Given the description of an element on the screen output the (x, y) to click on. 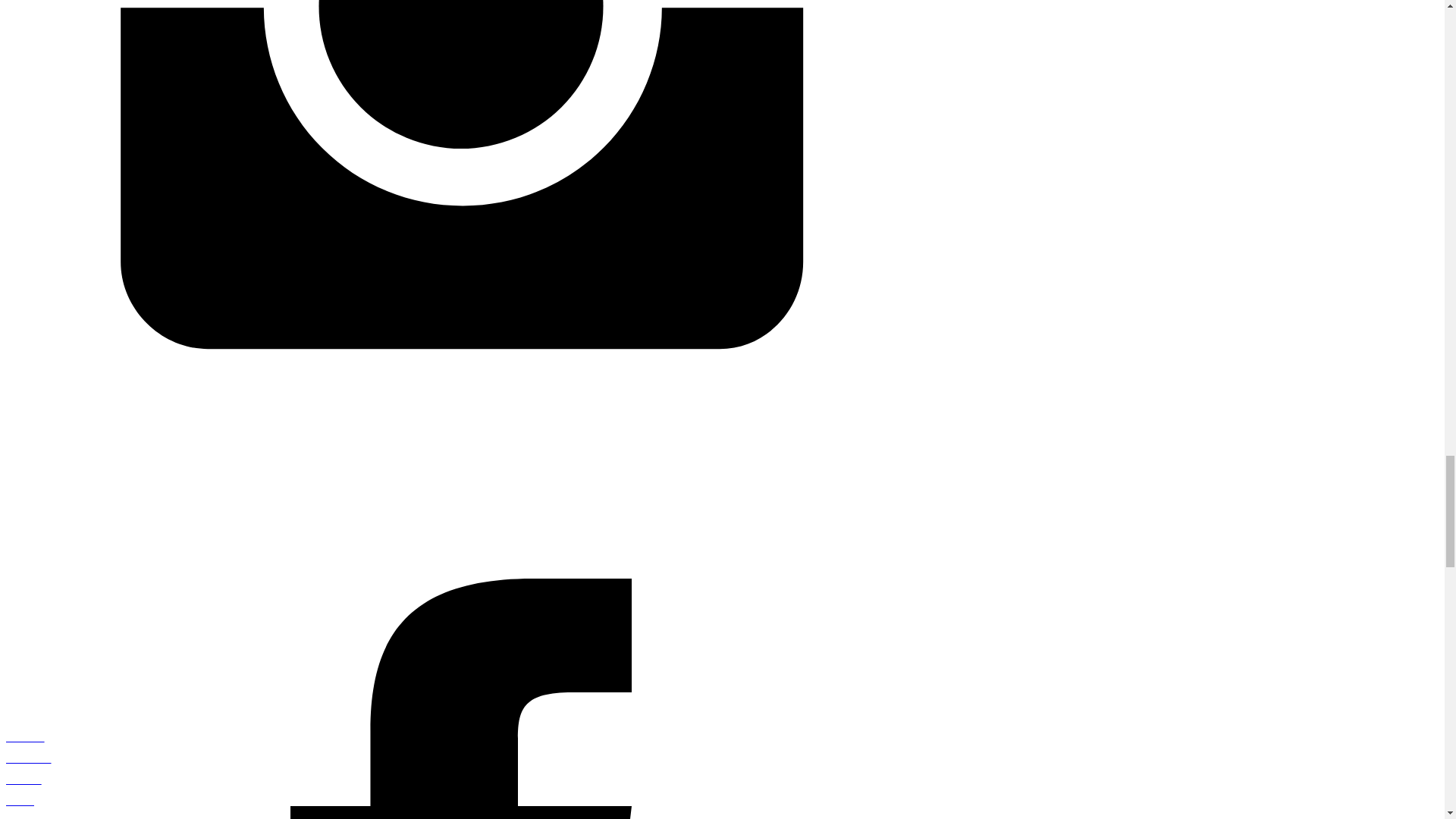
PHOTOS (460, 759)
ABOUT (460, 738)
FILMS (460, 780)
INFO (460, 802)
